Given the description of an element on the screen output the (x, y) to click on. 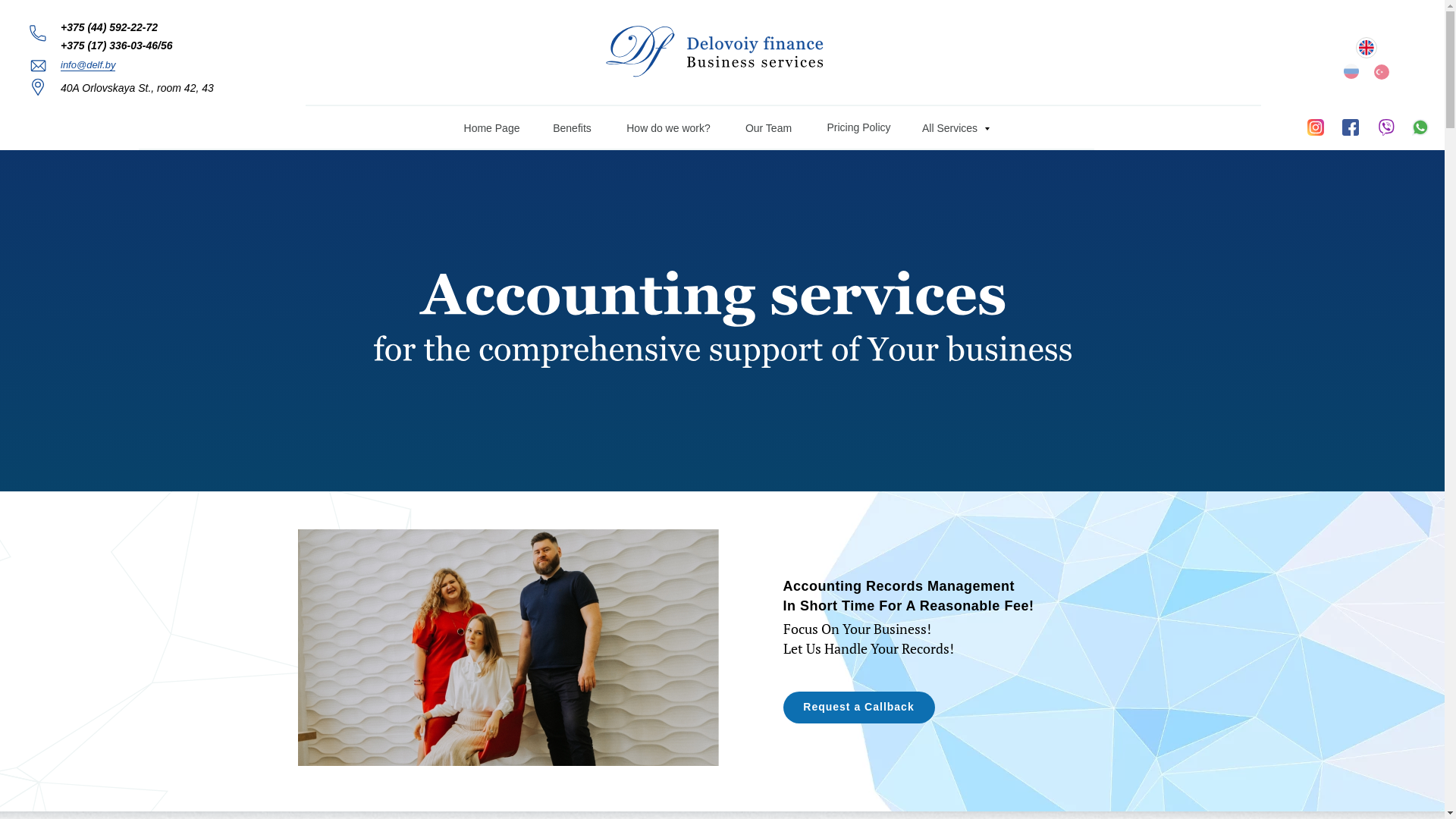
info@delf.by Element type: text (87, 65)
All Services Element type: text (952, 128)
Benefits Element type: text (572, 128)
+375 (44) 592-22-72 Element type: text (108, 27)
+375 (17) 336-03-46/56 Element type: text (116, 45)
Our Team Element type: text (767, 128)
Pricing Policy Element type: text (858, 127)
Home Page Element type: text (491, 128)
Request a Callback Element type: text (858, 707)
